Given the description of an element on the screen output the (x, y) to click on. 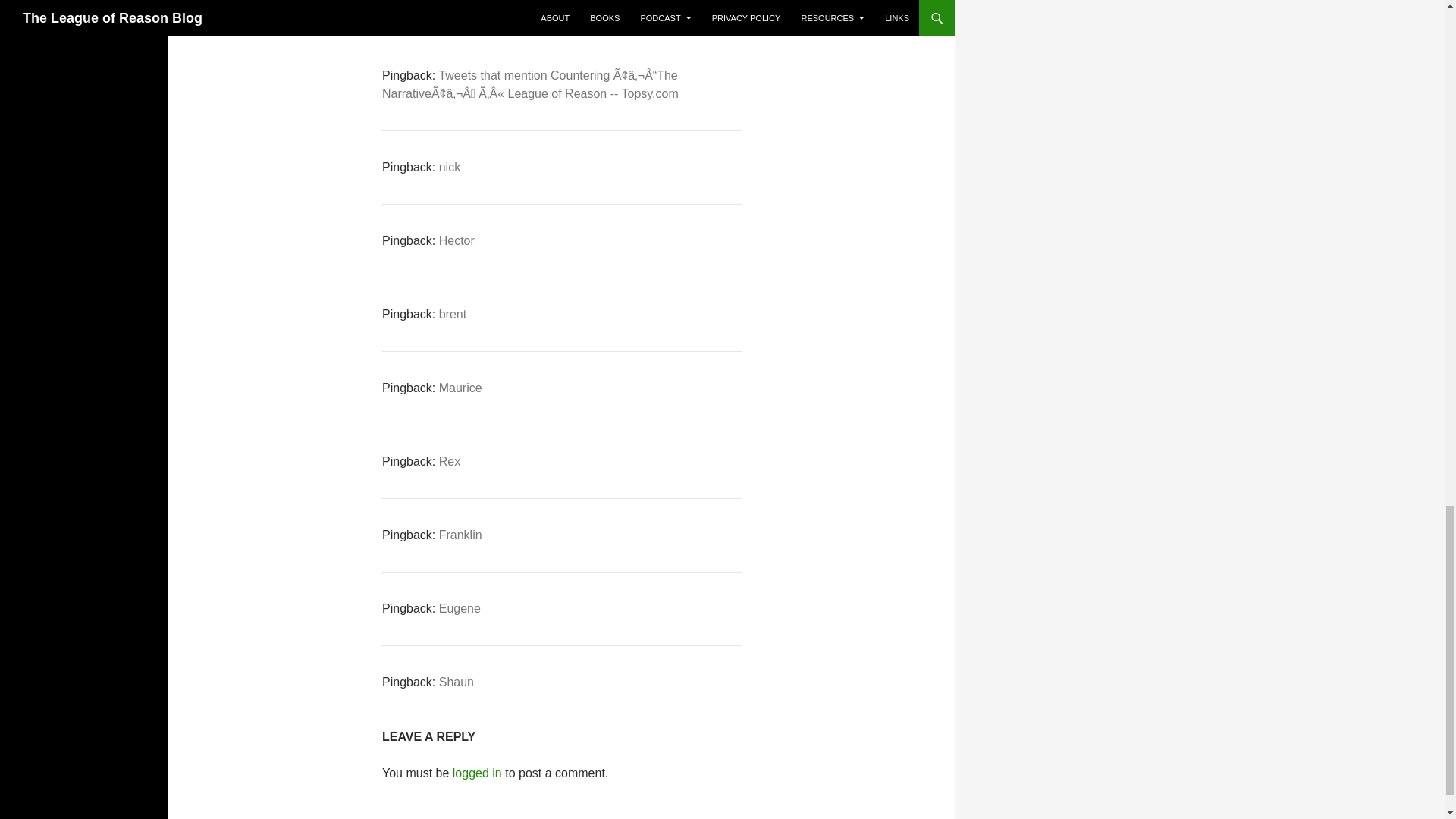
Maurice (460, 387)
Hector (456, 240)
Rex (449, 461)
brent (452, 314)
nick (449, 166)
